Given the description of an element on the screen output the (x, y) to click on. 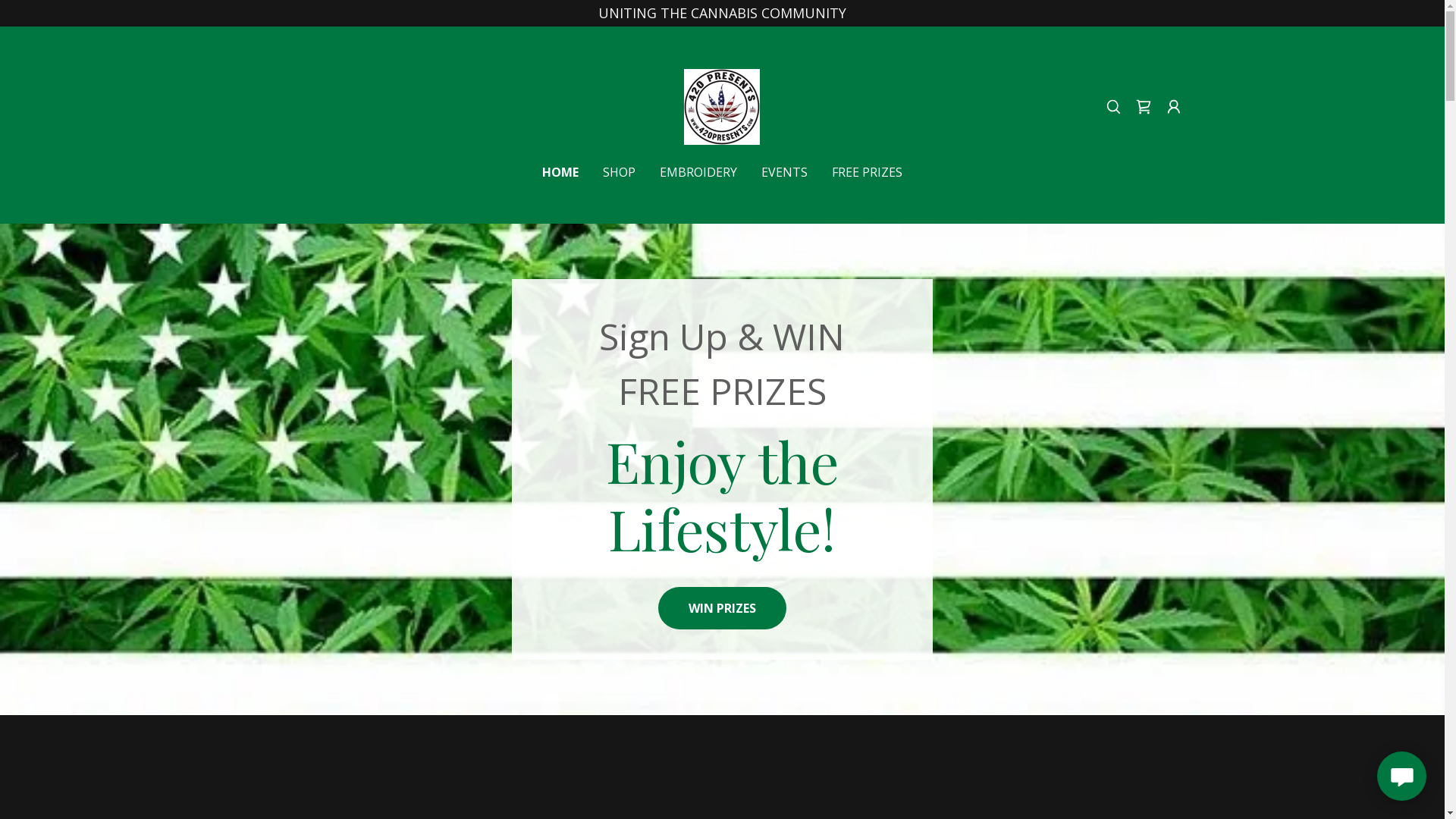
Enjoy the Lifestyle Element type: hover (721, 105)
EVENTS Element type: text (784, 171)
HOME Element type: text (560, 172)
WIN PRIZES Element type: text (722, 607)
EMBROIDERY Element type: text (698, 171)
SHOP Element type: text (619, 171)
FREE PRIZES Element type: text (866, 171)
